Given the description of an element on the screen output the (x, y) to click on. 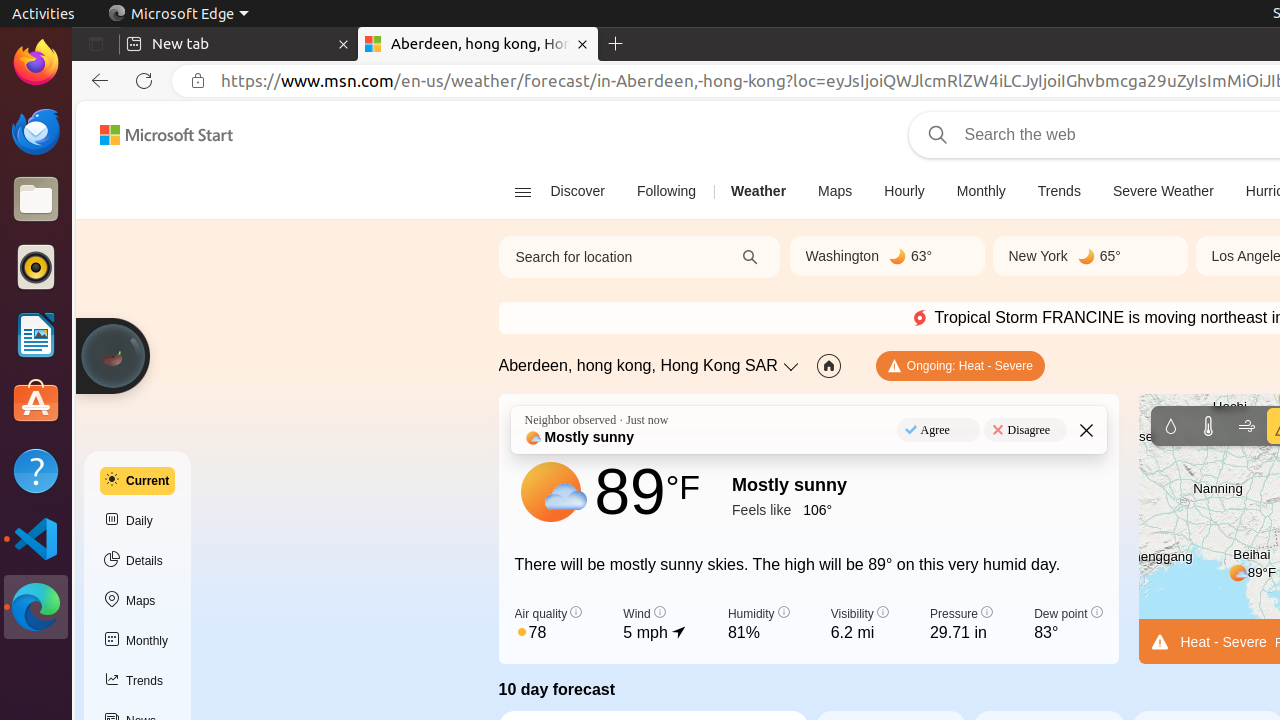
Monthly Element type: link (981, 192)
Disagree Element type: push-button (1025, 430)
View site information Element type: push-button (198, 81)
Help Element type: push-button (36, 470)
Microsoft Edge Element type: menu (178, 13)
